Given the description of an element on the screen output the (x, y) to click on. 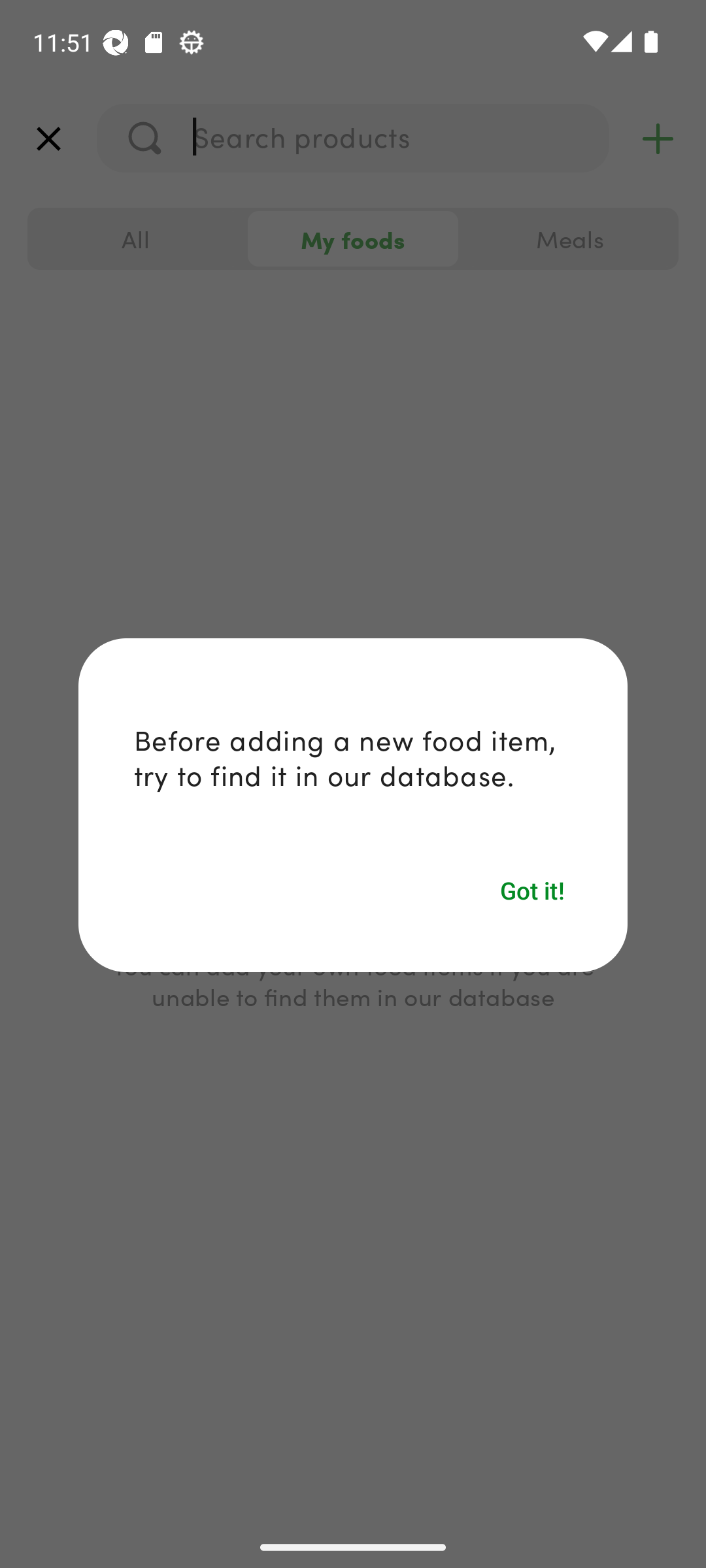
Got it! (532, 890)
